Given the description of an element on the screen output the (x, y) to click on. 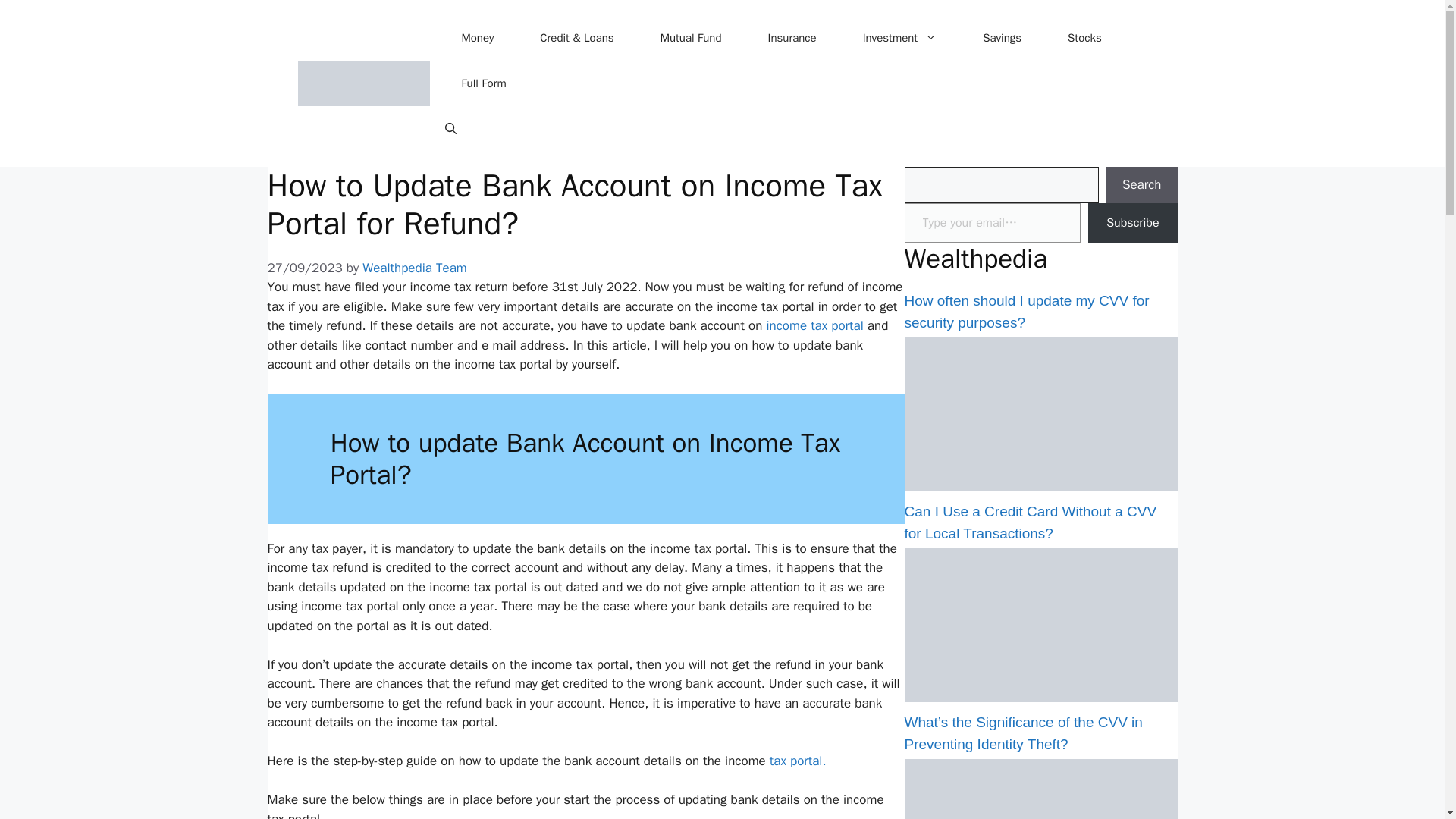
Investment (899, 37)
Money (476, 37)
Subscribe (1131, 223)
Stocks (1084, 37)
Savings (1002, 37)
How often should I update my CVV for security purposes? (1040, 487)
View all posts by Wealthpedia Team (414, 268)
Please fill in this field. (992, 223)
income tax portal (812, 325)
How often should I update my CVV for security purposes? (1026, 311)
Search (1141, 185)
Wealthpedia Team (414, 268)
tax portal. (798, 760)
